Given the description of an element on the screen output the (x, y) to click on. 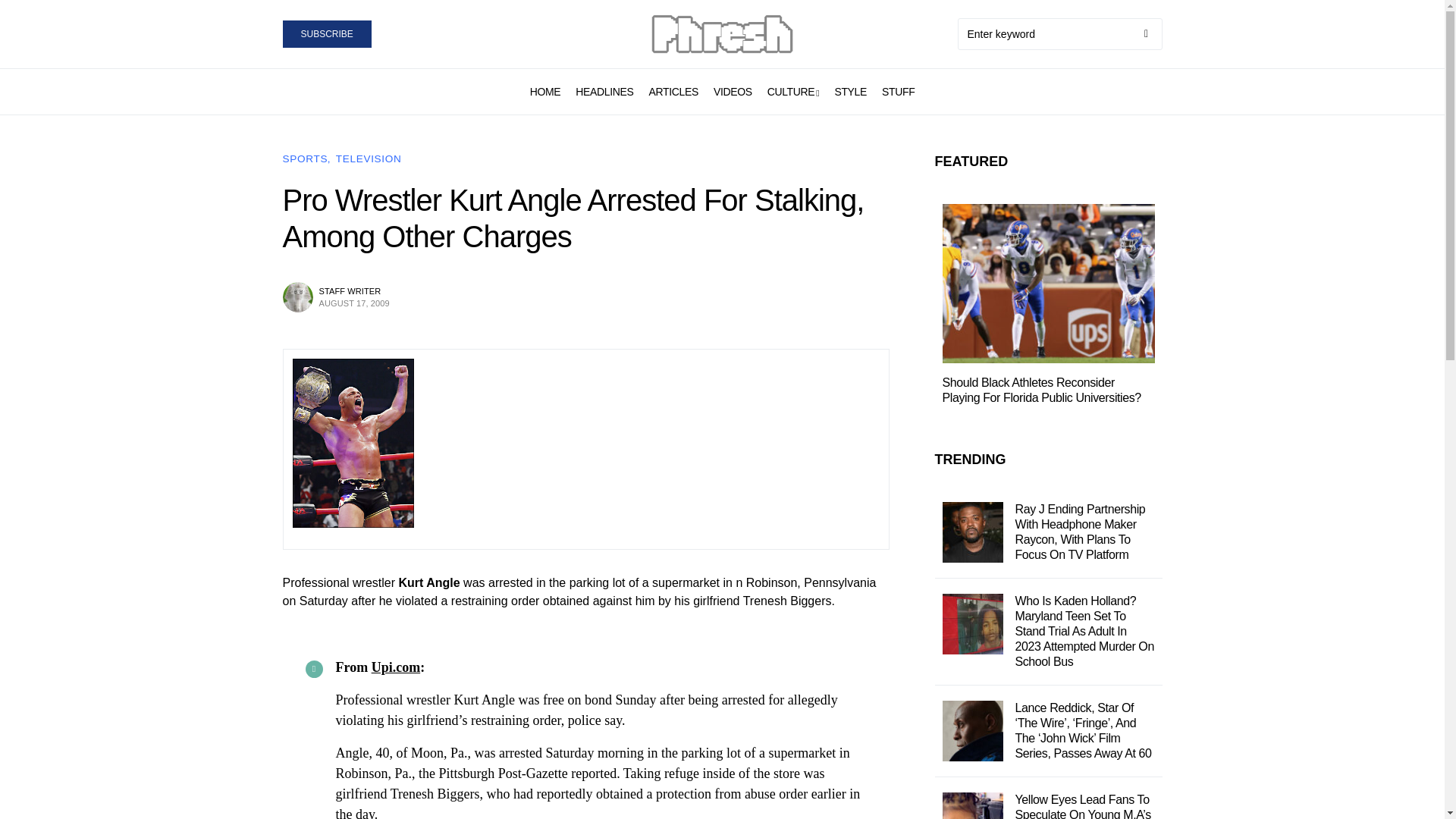
HEADLINES (604, 91)
STUFF (898, 91)
ARTICLES (672, 91)
CULTURE (793, 91)
STYLE (850, 91)
VIDEOS (732, 91)
SUBSCRIBE (326, 33)
HOME (544, 91)
